Given the description of an element on the screen output the (x, y) to click on. 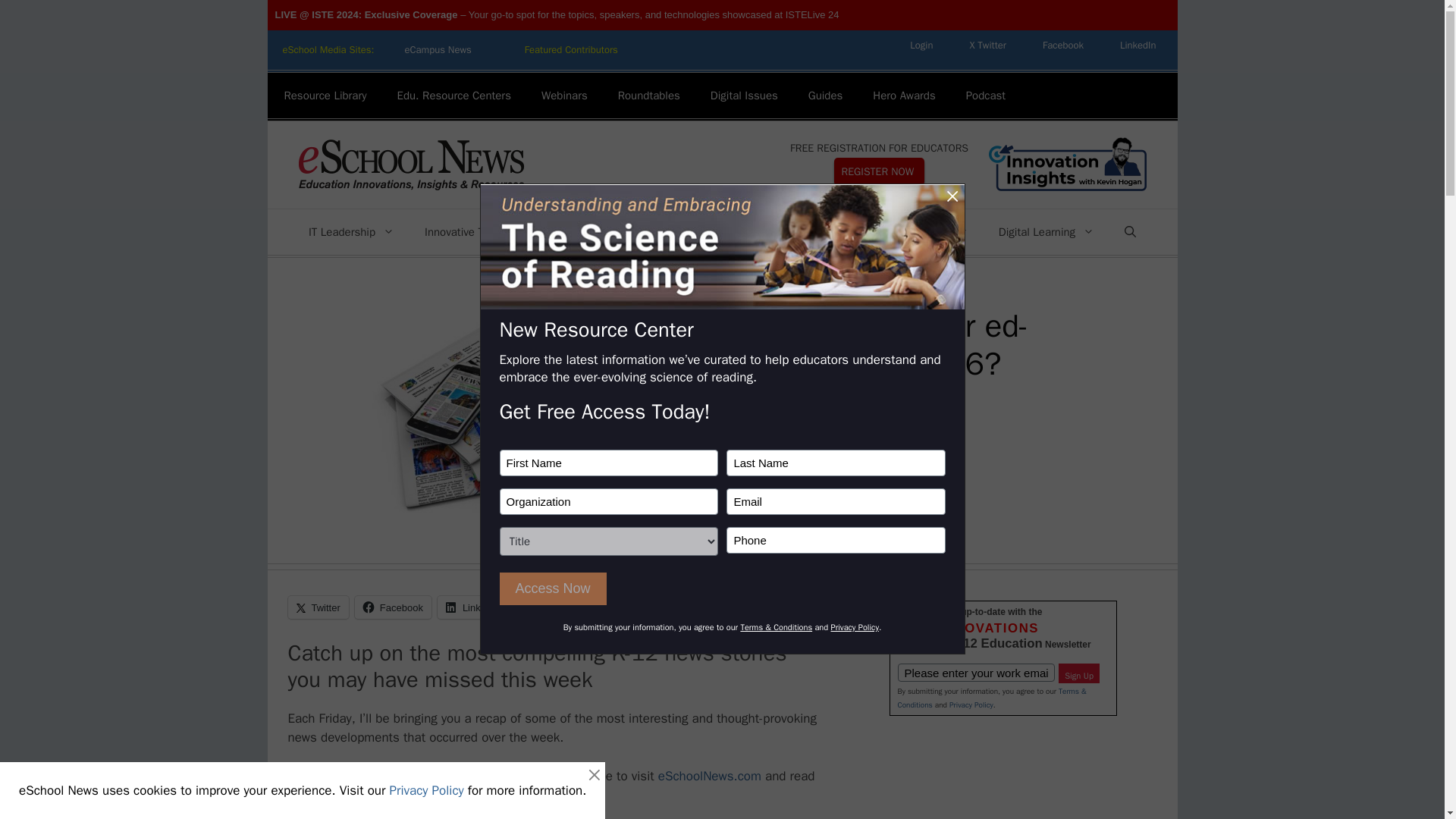
Click to share on LinkedIn (473, 607)
Guides (826, 94)
Digital Issues (744, 94)
eSchool News (410, 164)
eCampus News (437, 50)
Login (921, 45)
Hero Awards (903, 94)
Resource Library (324, 94)
LinkedIn (1138, 45)
eSchool News (410, 163)
REGISTER NOW  (879, 171)
Facebook (1063, 45)
Featured Contributors (571, 50)
Access Now (552, 588)
Webinars (563, 94)
